Given the description of an element on the screen output the (x, y) to click on. 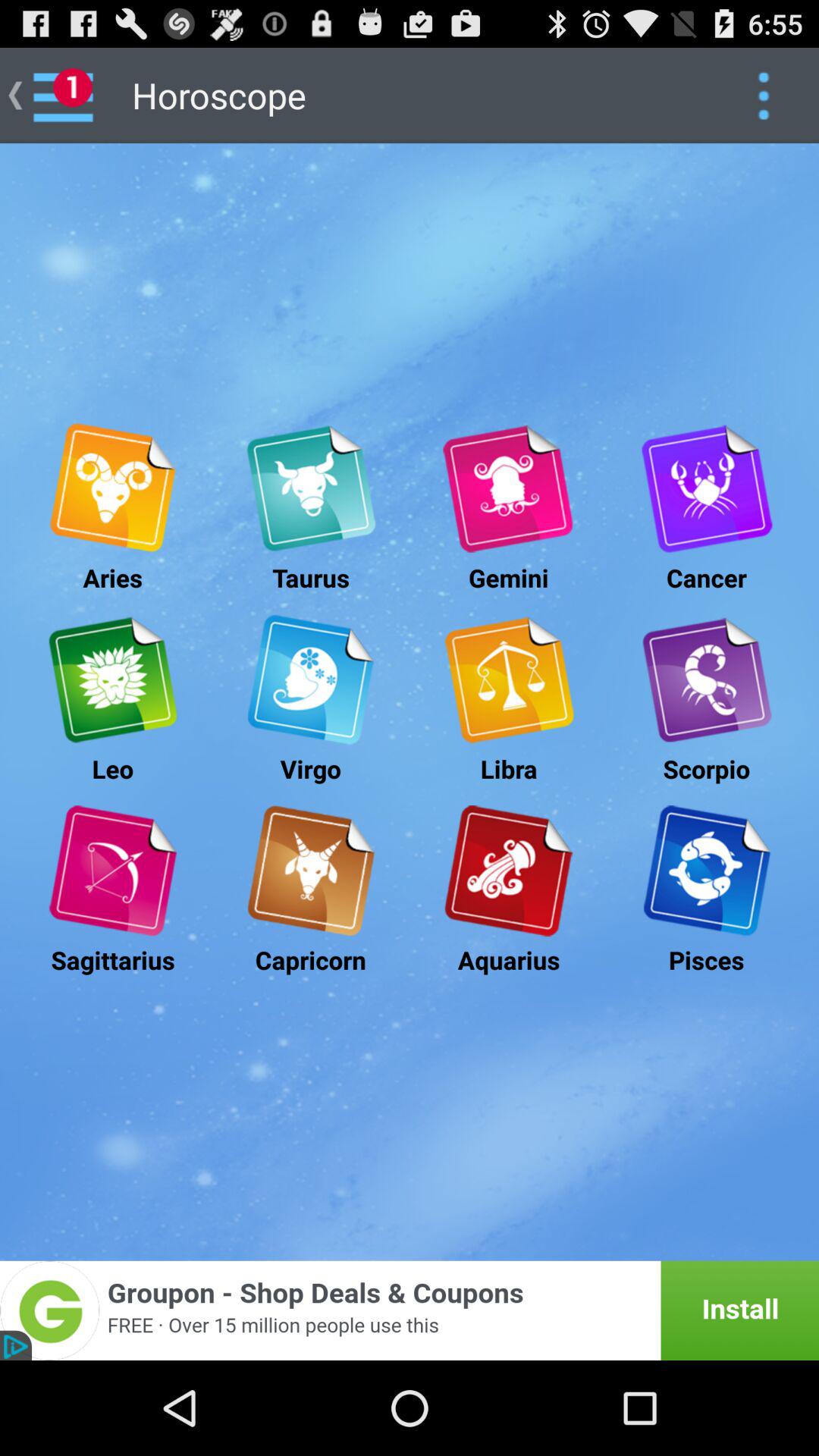
link to capricorn (310, 870)
